Given the description of an element on the screen output the (x, y) to click on. 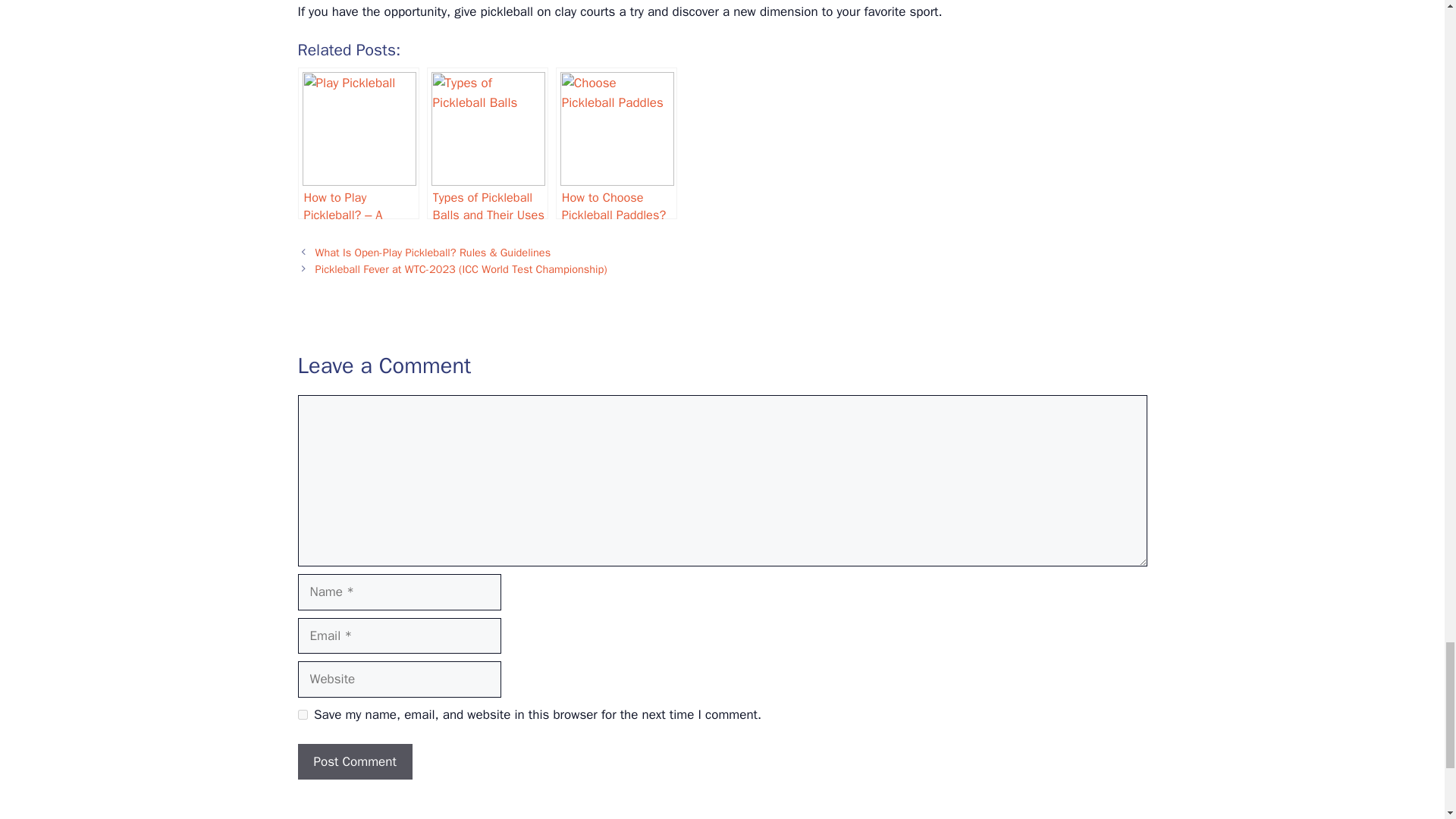
yes (302, 714)
Post Comment (354, 761)
Post Comment (354, 761)
